Given the description of an element on the screen output the (x, y) to click on. 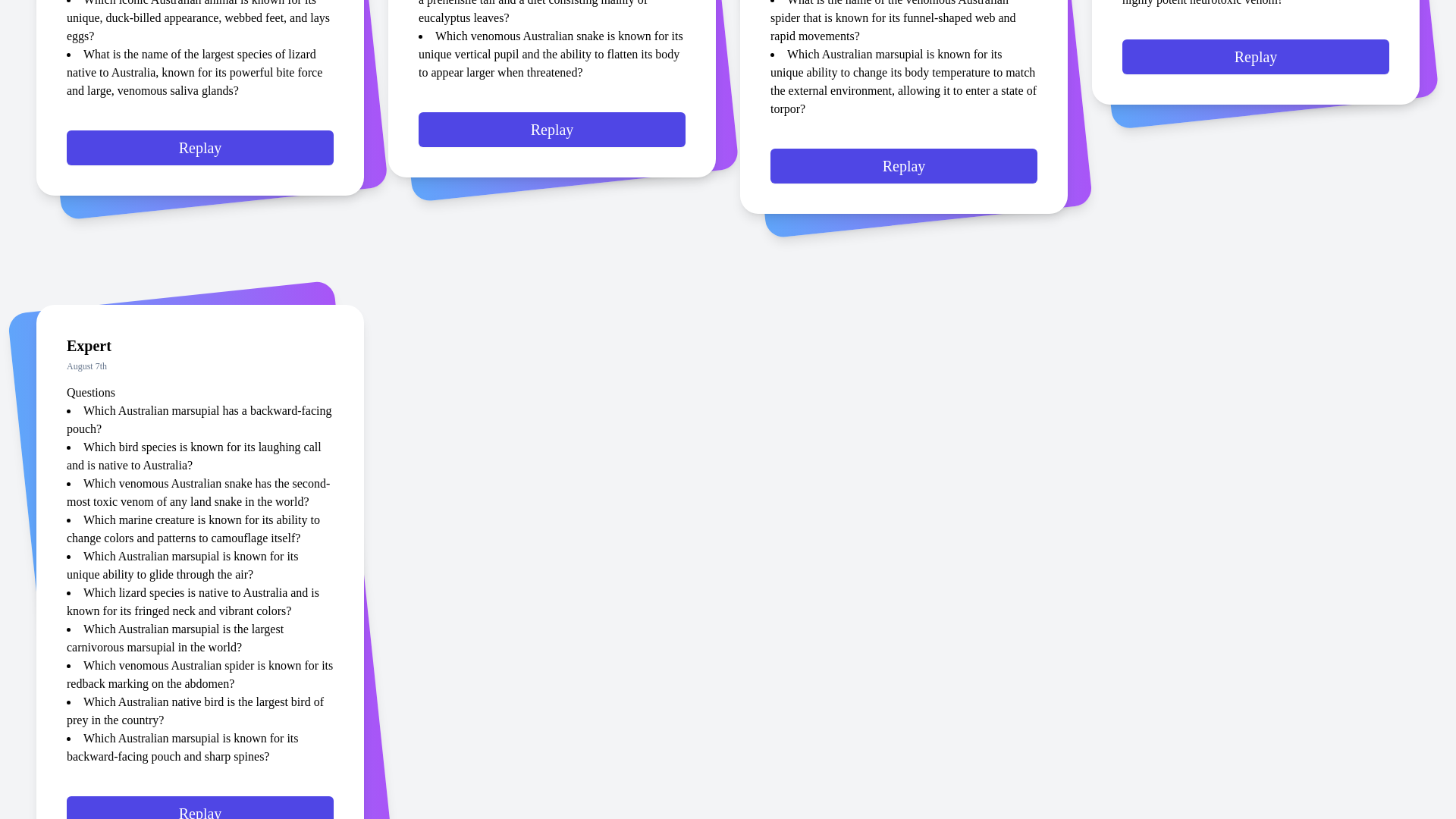
Replay (199, 157)
Replay (199, 811)
Replay (552, 138)
Replay (903, 174)
Replay (1255, 63)
